Given the description of an element on the screen output the (x, y) to click on. 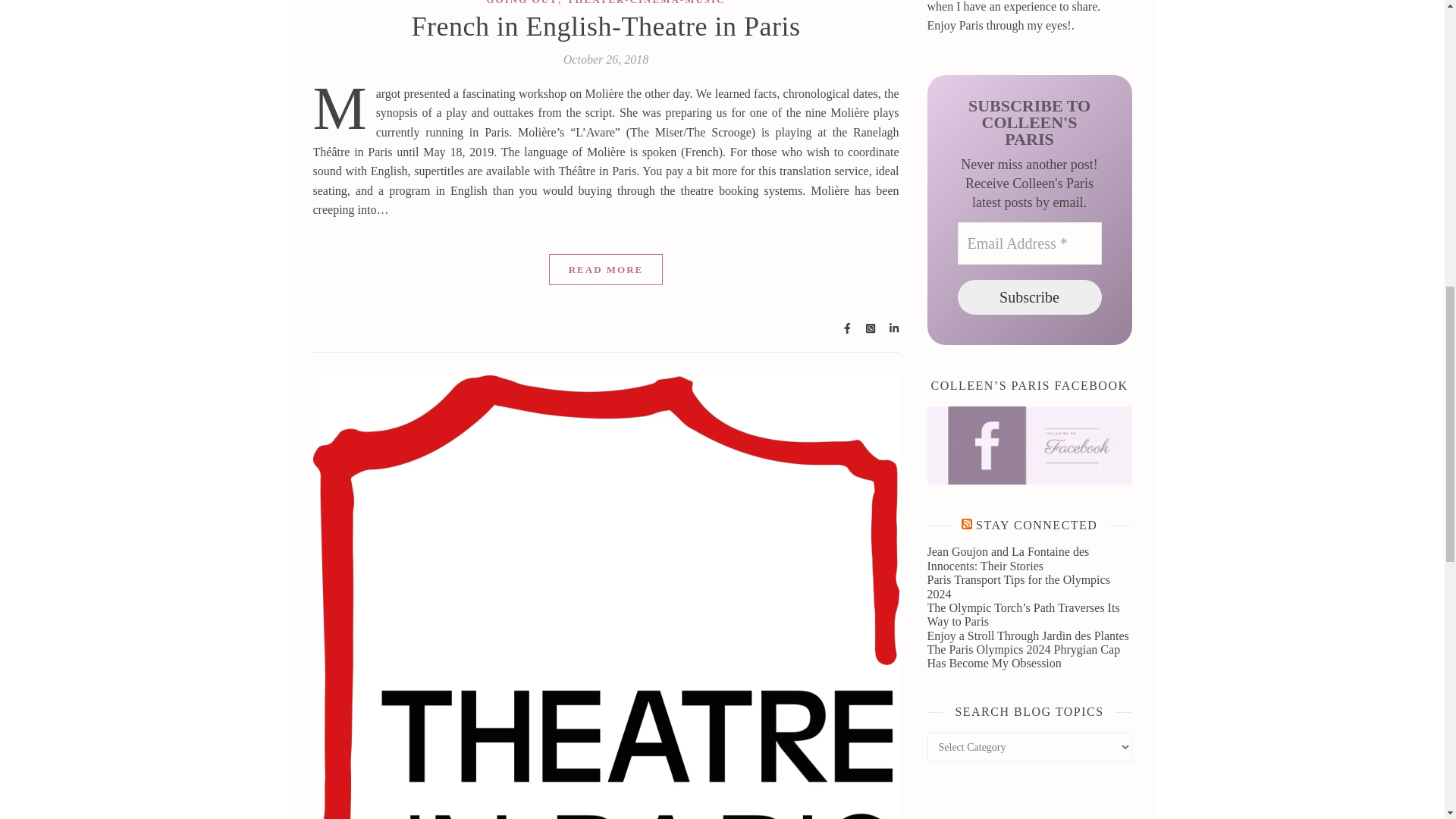
GOING OUT (521, 2)
Subscribe (1028, 297)
THEATER-CINEMA-MUSIC (646, 2)
French in English-Theatre in Paris (606, 26)
Subscribe (1028, 297)
READ MORE (605, 269)
Email Address (1028, 242)
Colleen's Paris Facebook (1028, 445)
